Given the description of an element on the screen output the (x, y) to click on. 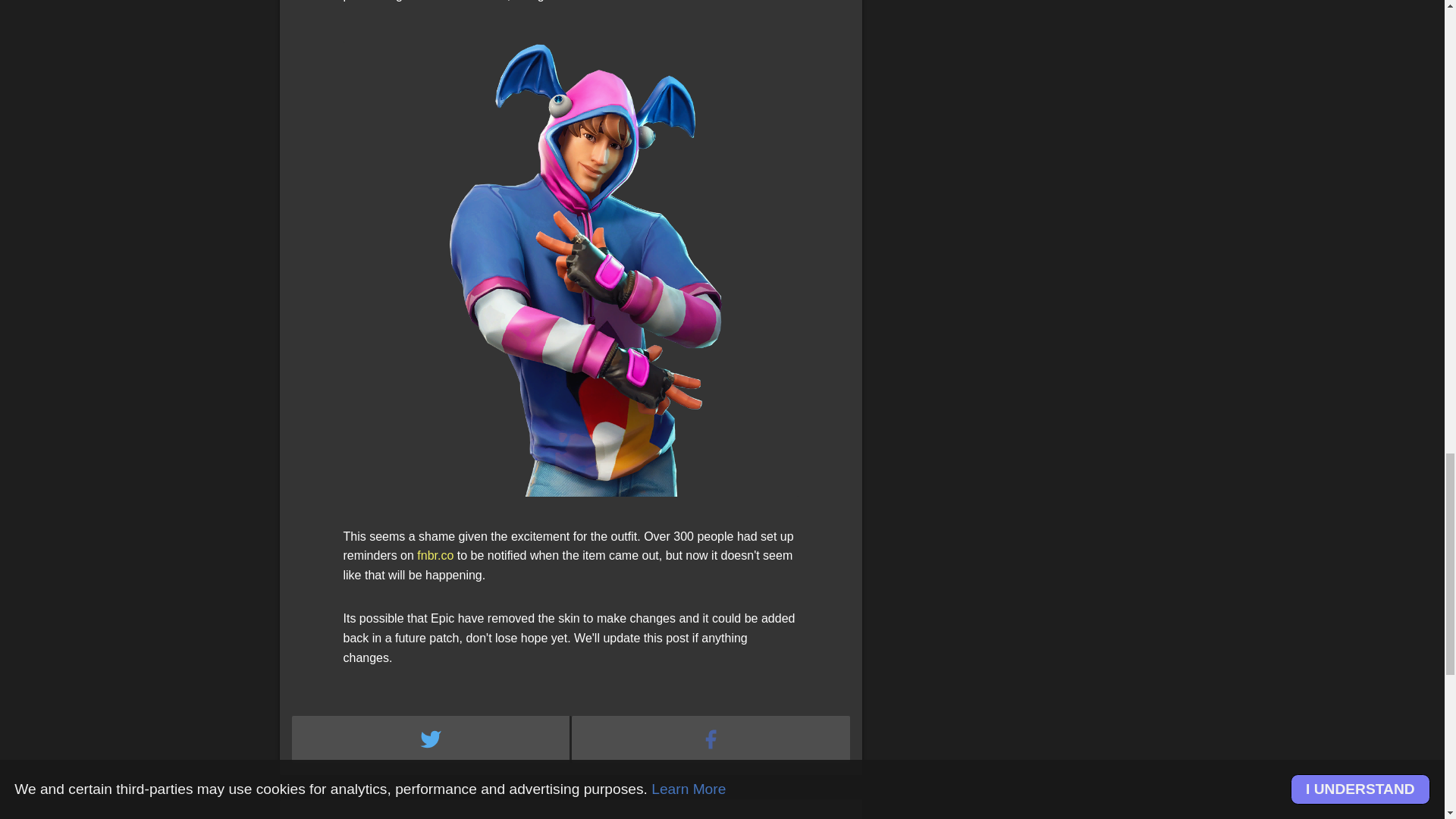
Share on Twitter (431, 738)
fnbr.co (434, 554)
Share on Facebook (711, 738)
